Given the description of an element on the screen output the (x, y) to click on. 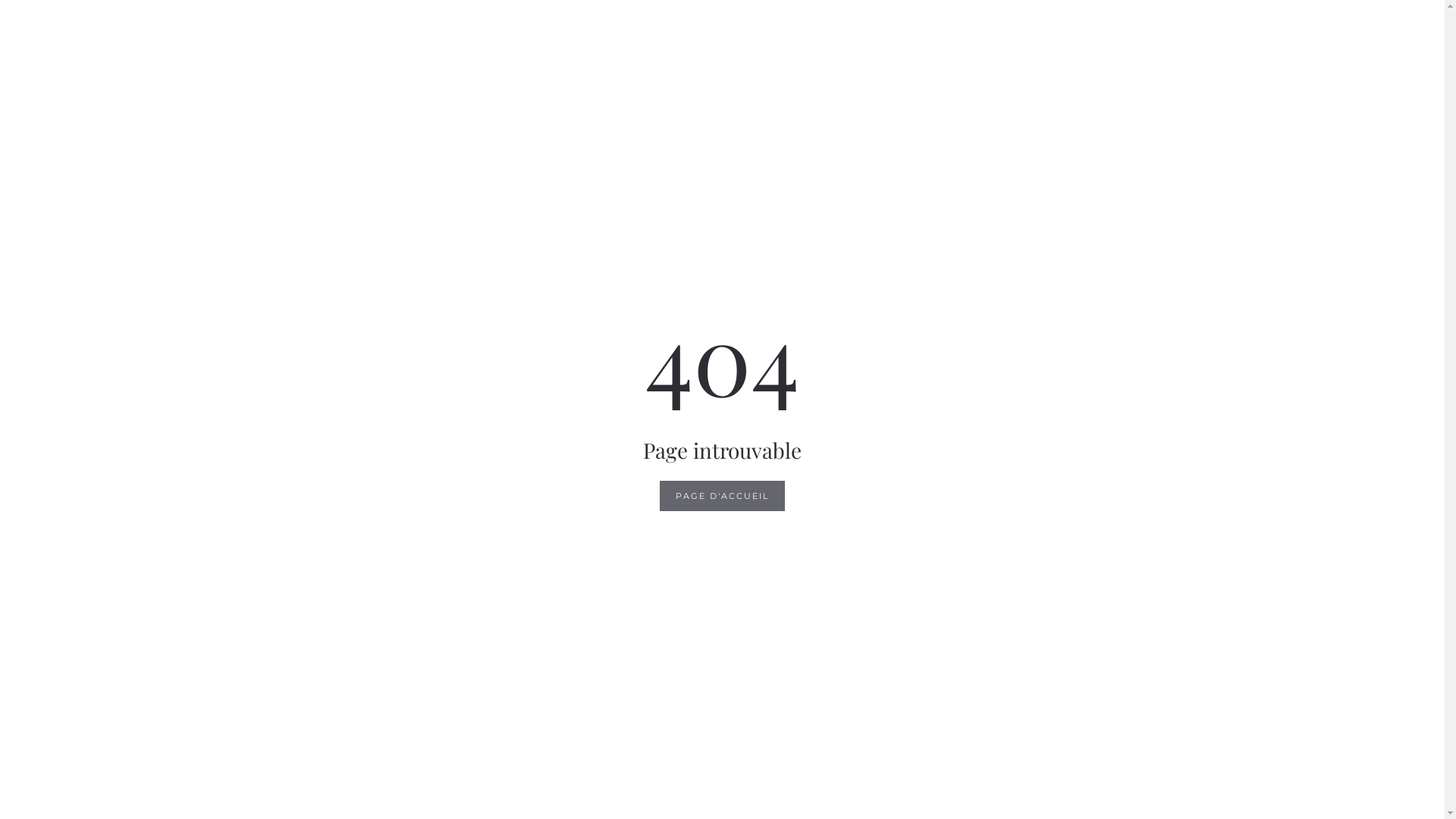
PAGE D'ACCUEIL Element type: text (721, 495)
